Given the description of an element on the screen output the (x, y) to click on. 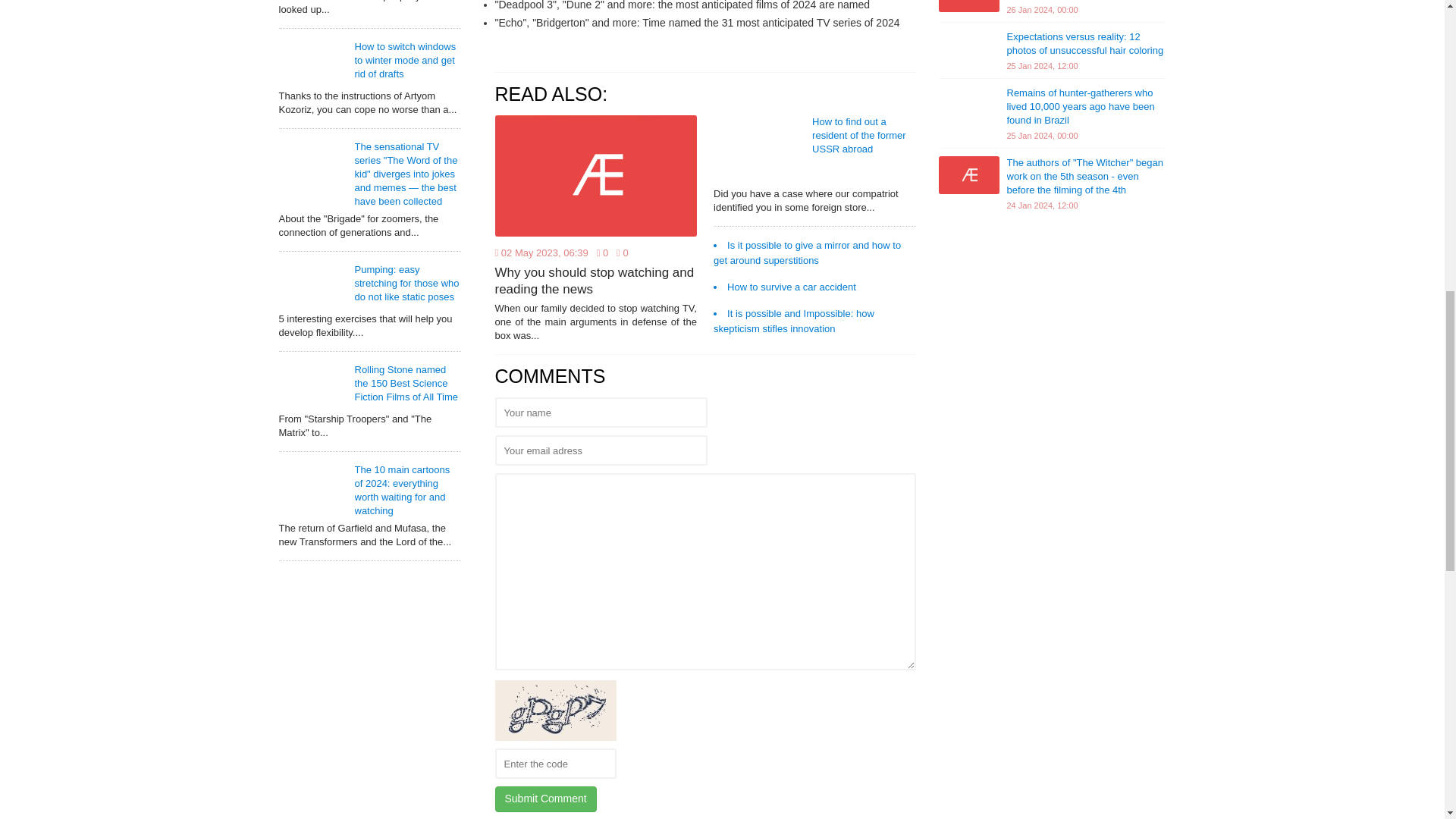
How to switch windows to winter mode and get rid of drafts (406, 59)
